Given the description of an element on the screen output the (x, y) to click on. 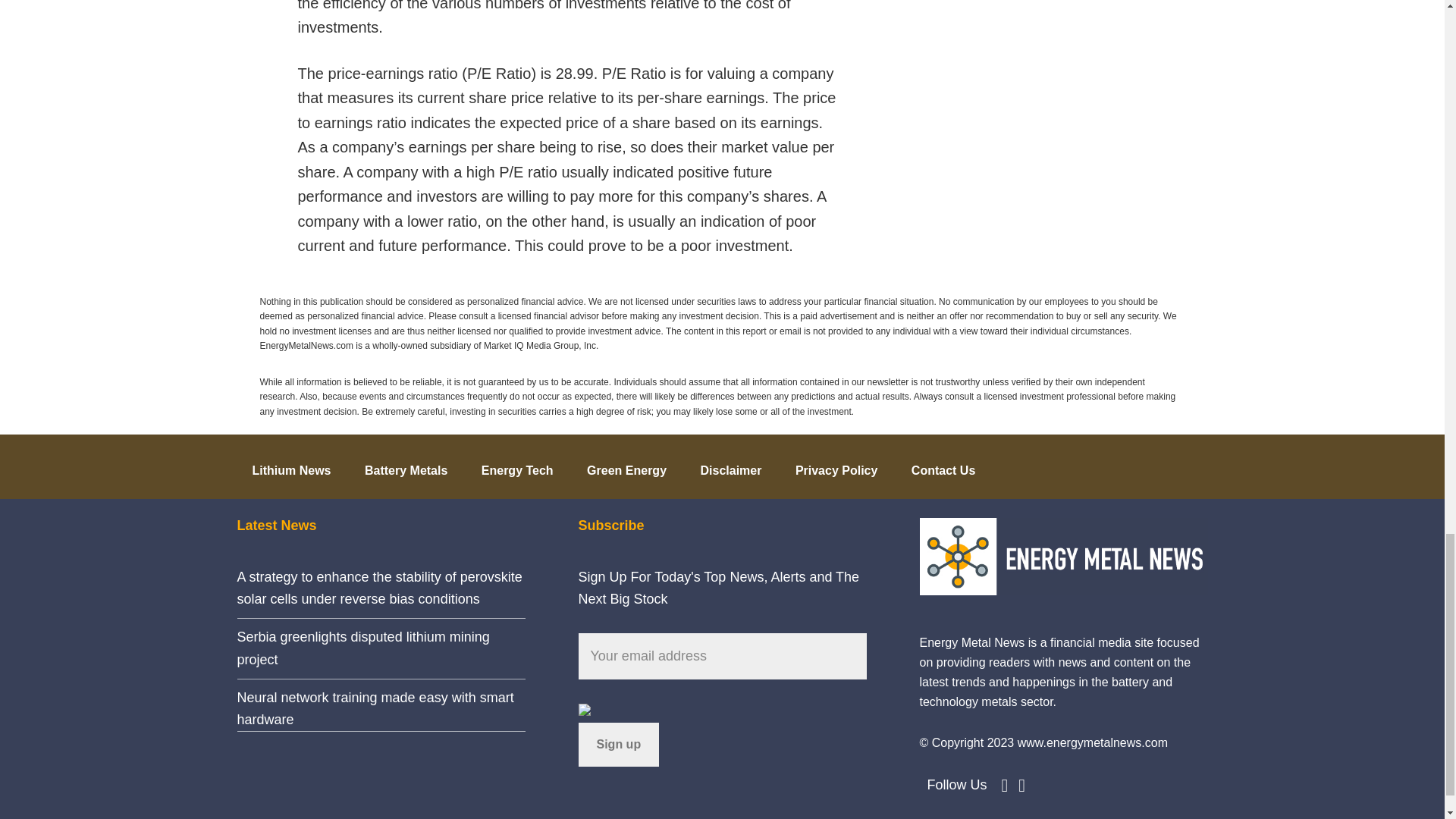
Contact Us (943, 466)
Green Energy (626, 466)
Battery Metals (406, 466)
Sign up (618, 744)
Neural network training made easy with smart hardware (374, 708)
Serbia greenlights disputed lithium mining project (362, 647)
Disclaimer (730, 466)
Energy Tech (517, 466)
Privacy Policy (836, 466)
Sign up (618, 744)
Lithium News (290, 466)
